Given the description of an element on the screen output the (x, y) to click on. 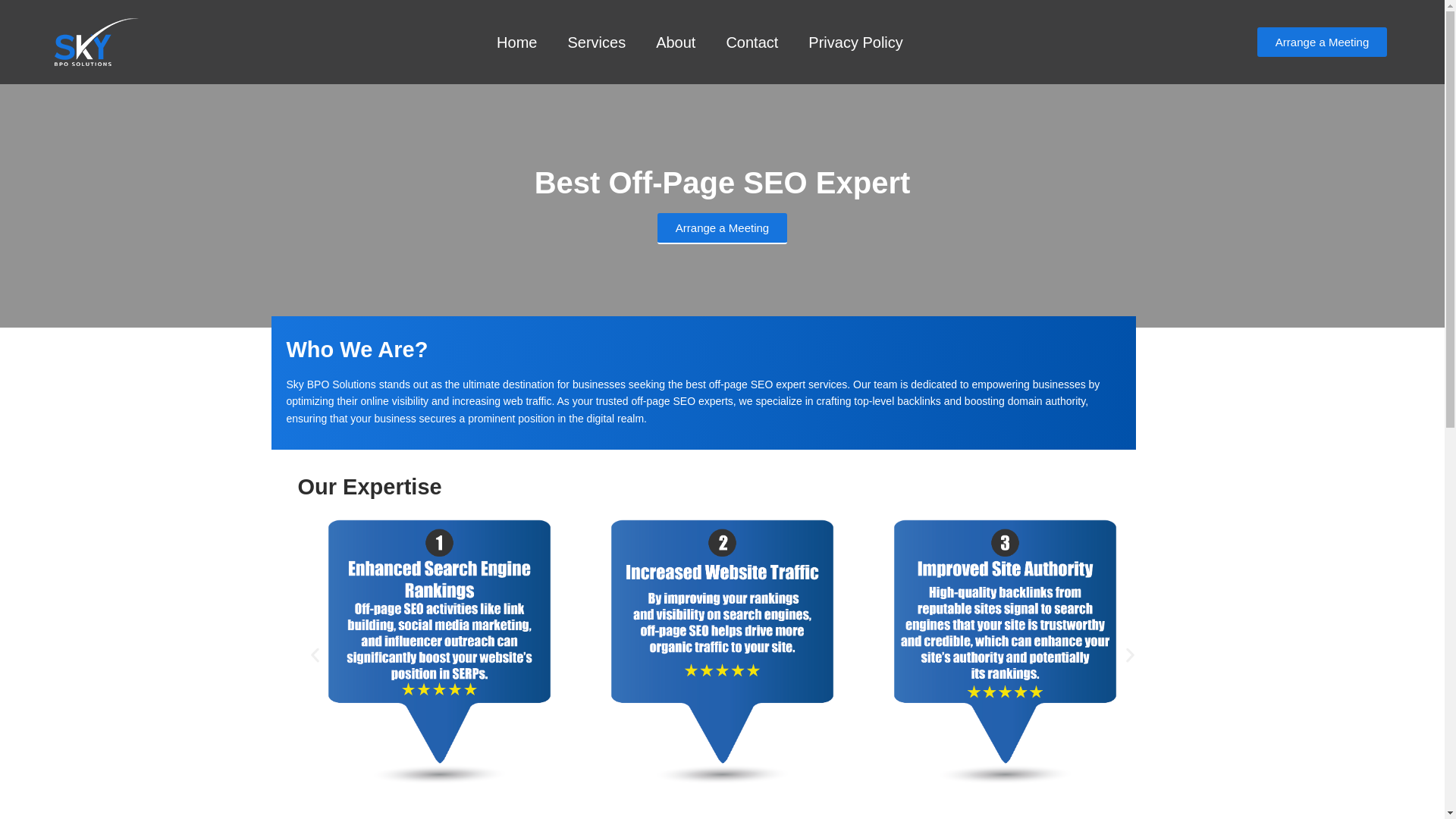
About (675, 41)
Privacy Policy (855, 41)
Contact (751, 41)
Services (595, 41)
Home (516, 41)
